Given the description of an element on the screen output the (x, y) to click on. 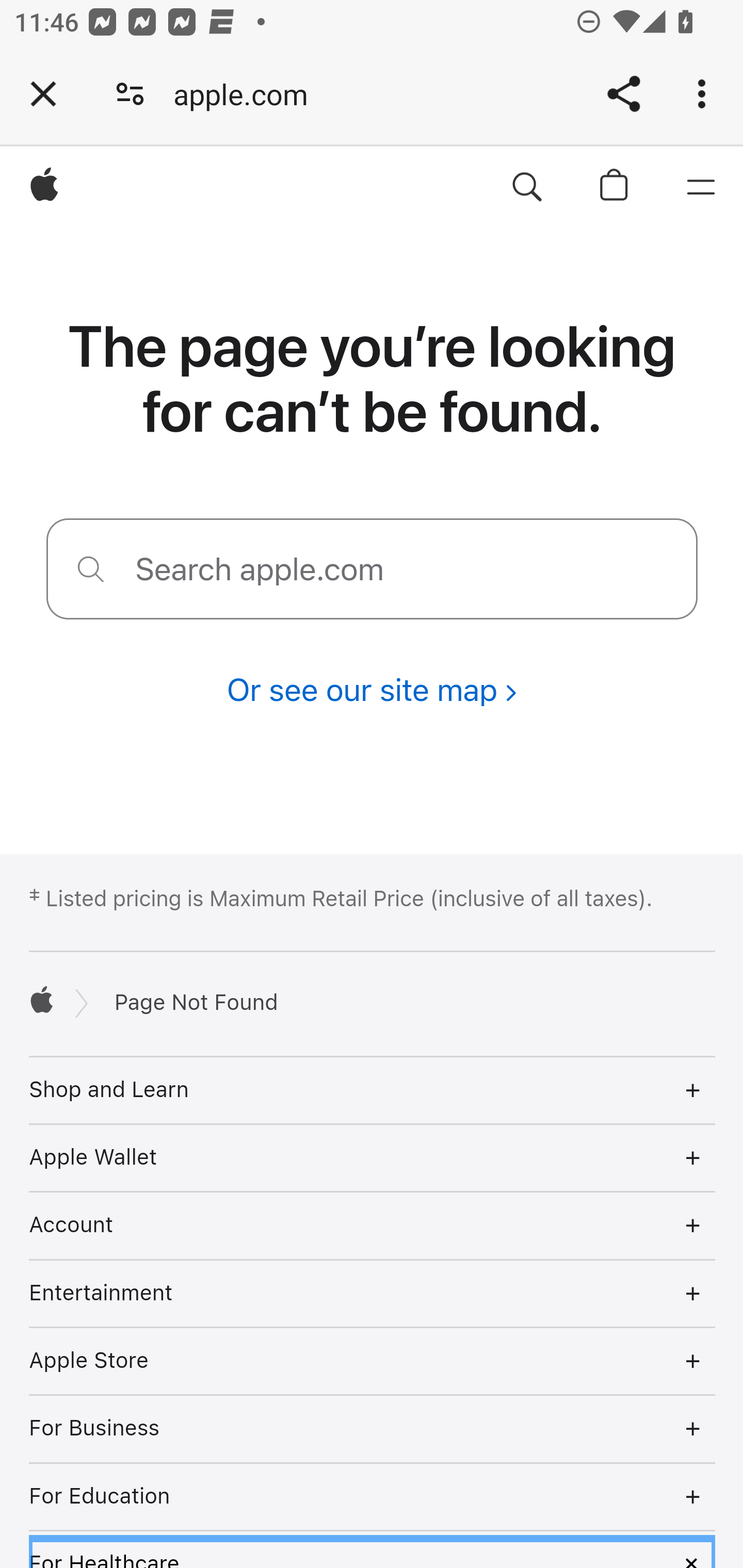
Close tab (43, 93)
Share (623, 93)
Customize and control Google Chrome (705, 93)
Connection is secure (129, 93)
apple.com (247, 93)
Apple (45, 188)
Search apple.com (526, 188)
Shopping Bag (614, 188)
Menu (700, 188)
submit (90, 568)
Or see our site map  Or see our site map  (371, 689)
Apple (41, 998)
Shop and Learn (372, 1089)
Apple Wallet (372, 1157)
Account (372, 1225)
Entertainment (372, 1294)
Apple Store (372, 1360)
For Business (372, 1429)
For Education (372, 1496)
